Given the description of an element on the screen output the (x, y) to click on. 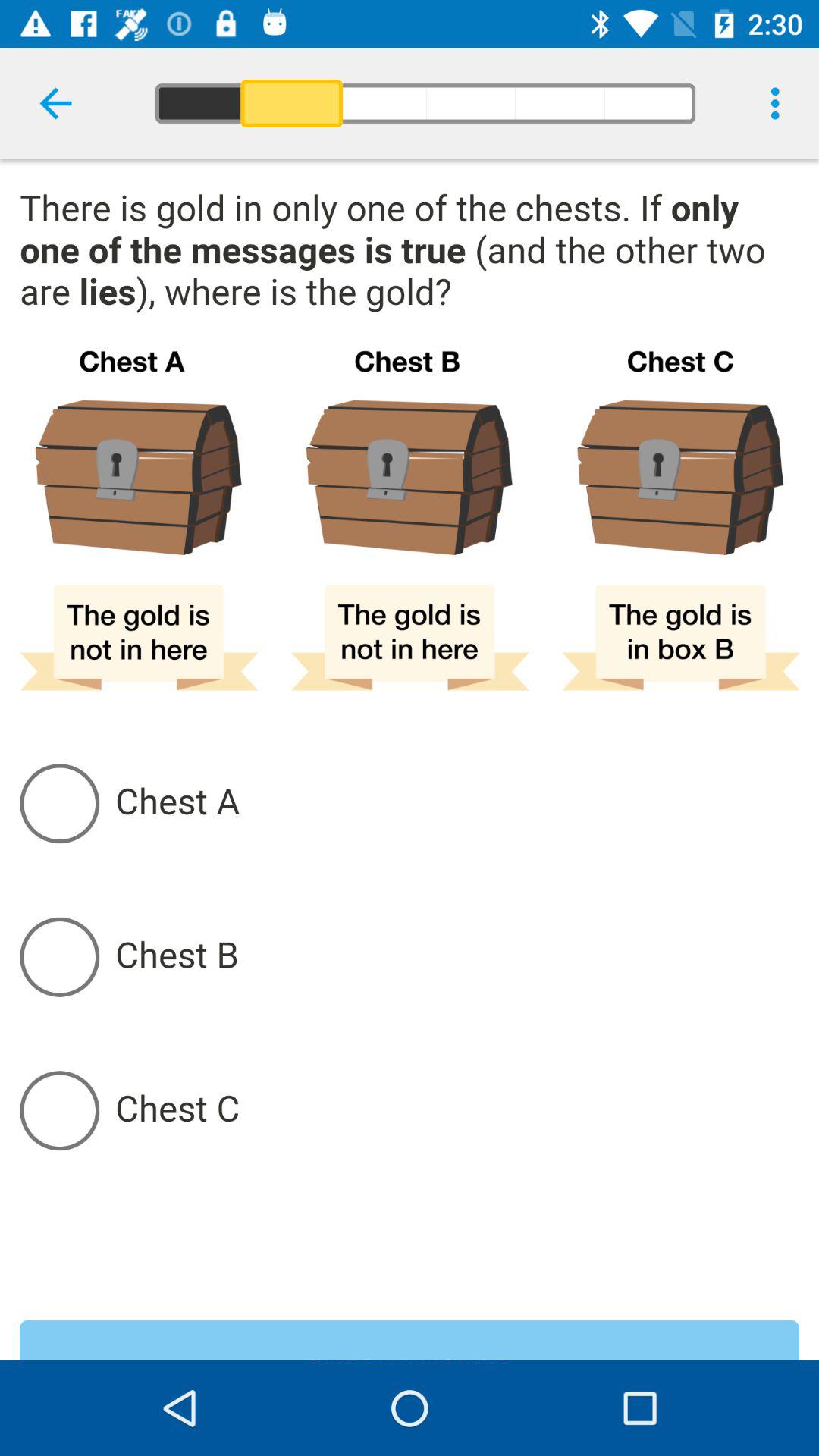
go to chest a (457, 803)
